Given the description of an element on the screen output the (x, y) to click on. 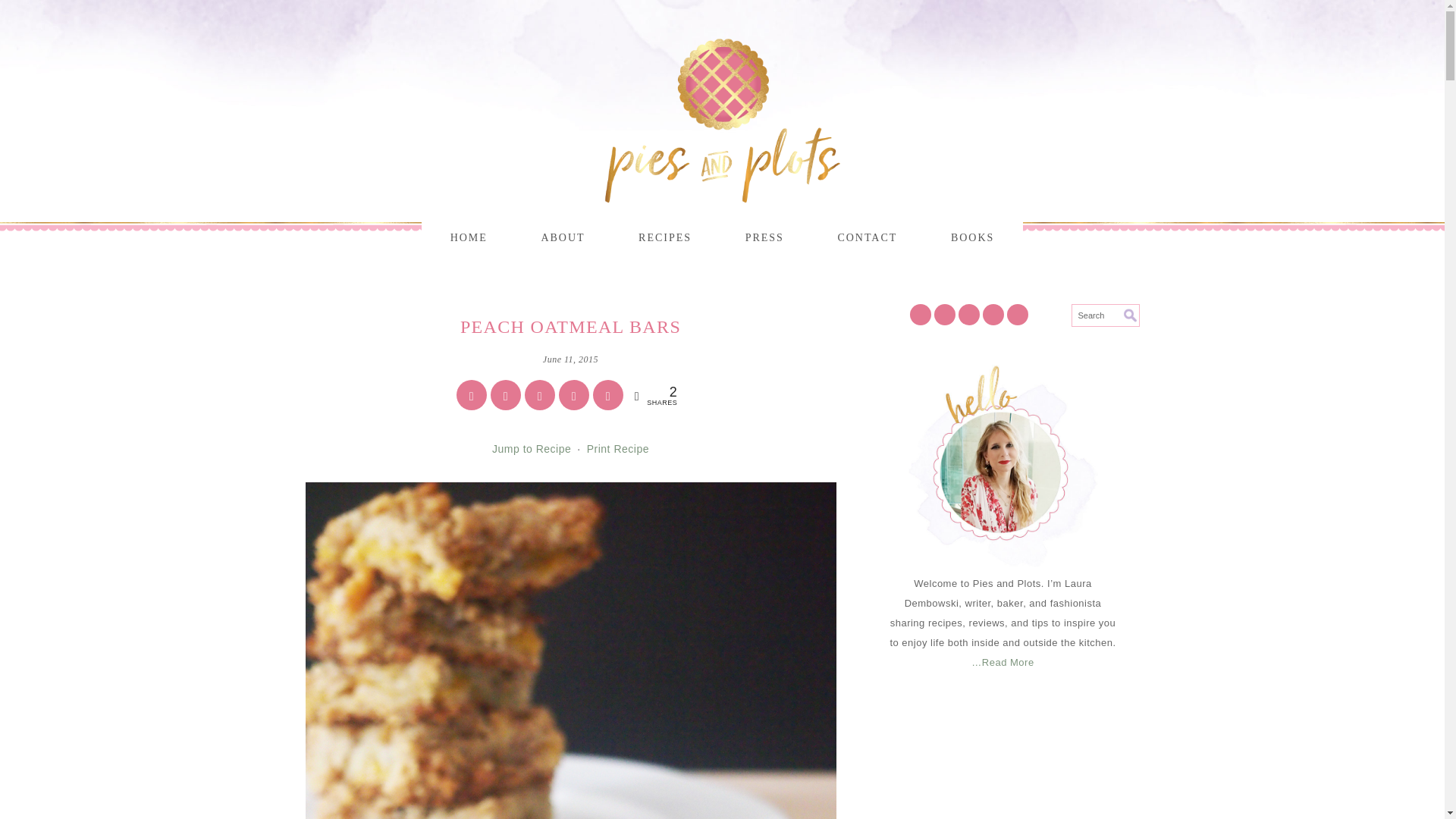
CONTACT (867, 237)
BOOKS (972, 237)
Jump to Recipe (531, 448)
PRESS (764, 237)
ABOUT (562, 237)
Print Recipe (617, 448)
HOME (469, 237)
RECIPES (665, 237)
